Given the description of an element on the screen output the (x, y) to click on. 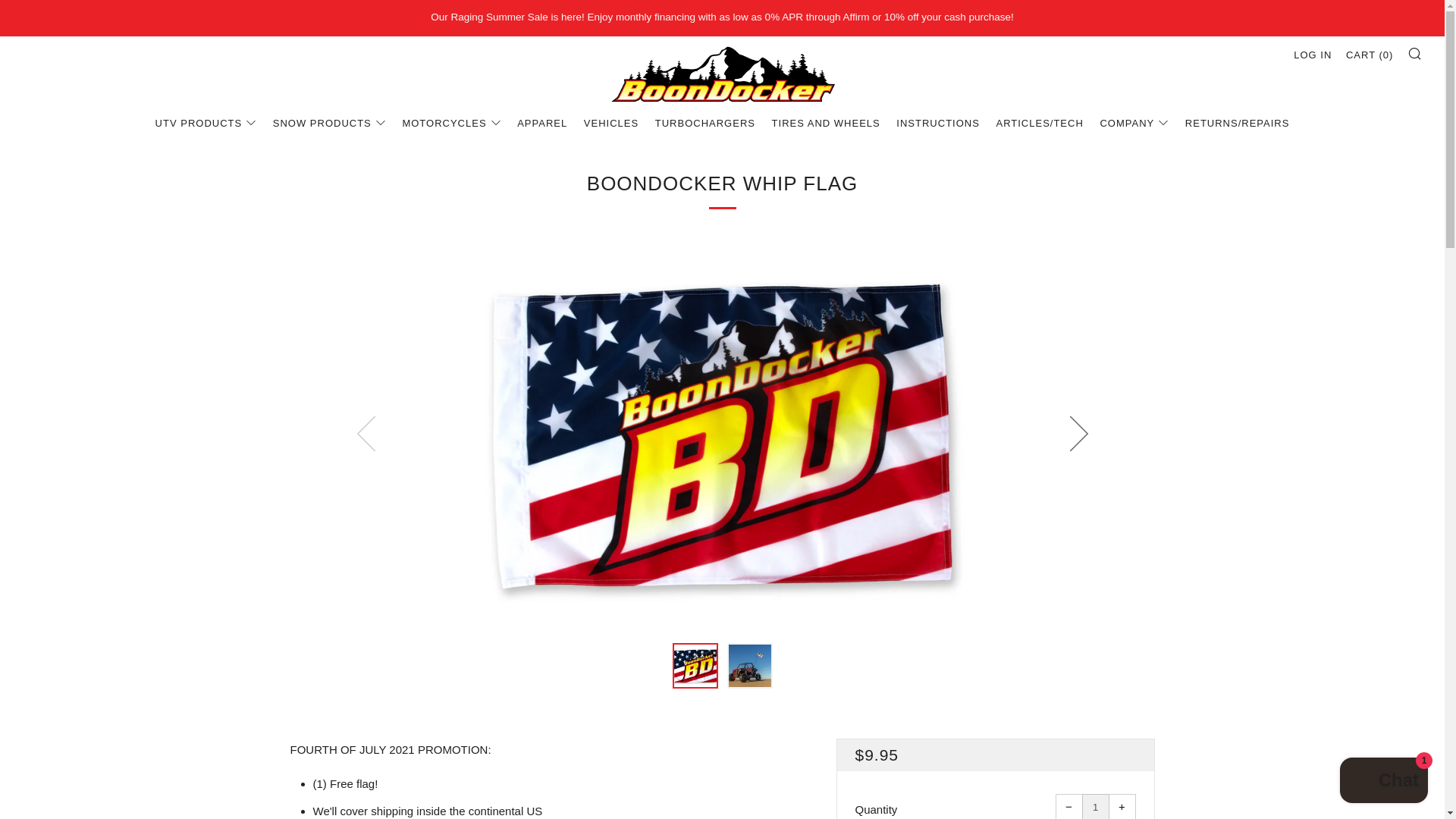
1 (1094, 806)
Shopify online store chat (1383, 781)
